Given the description of an element on the screen output the (x, y) to click on. 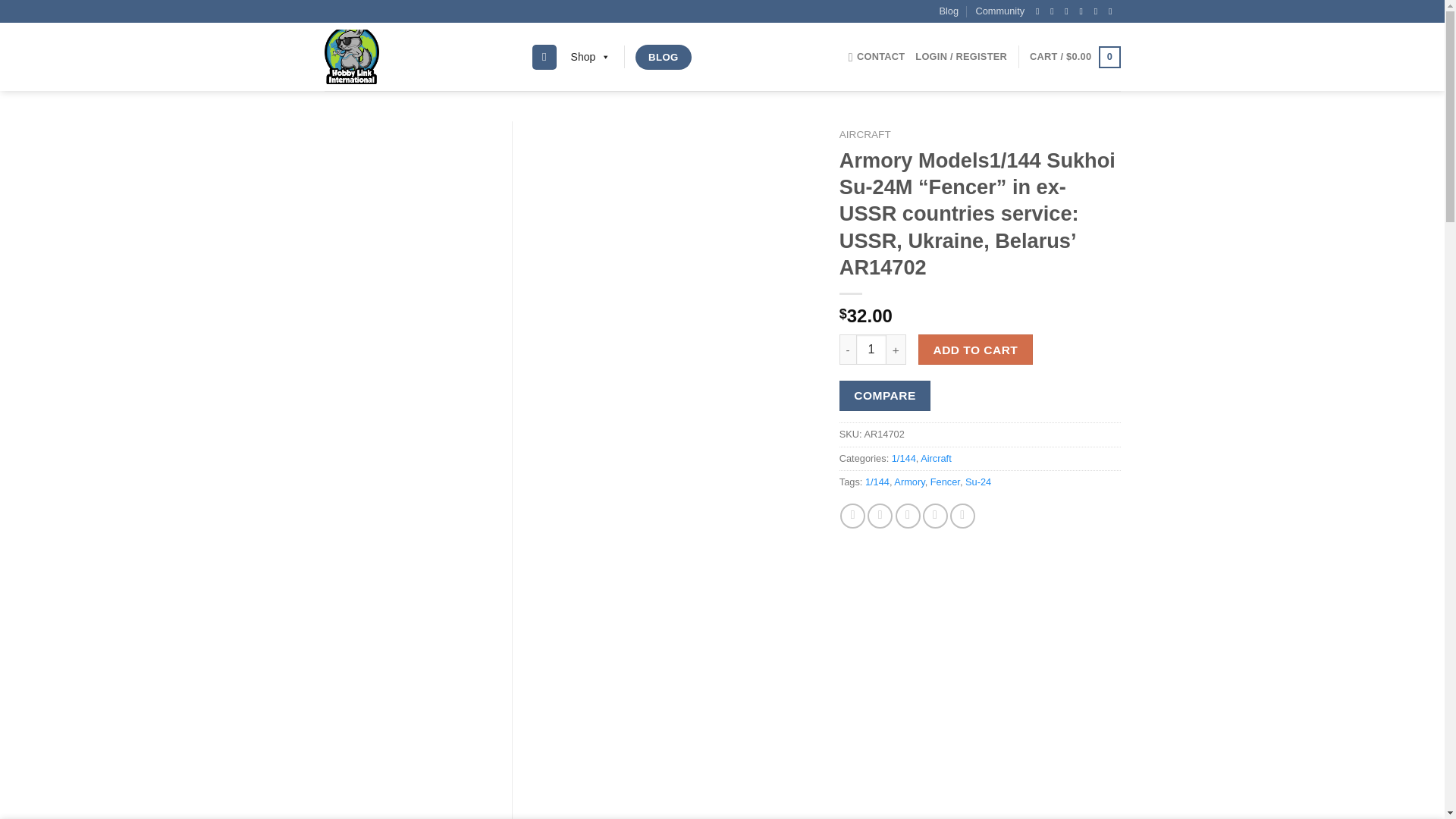
1 (871, 349)
Shop (590, 56)
Community (1000, 11)
Cart (1074, 57)
Login (961, 56)
